Given the description of an element on the screen output the (x, y) to click on. 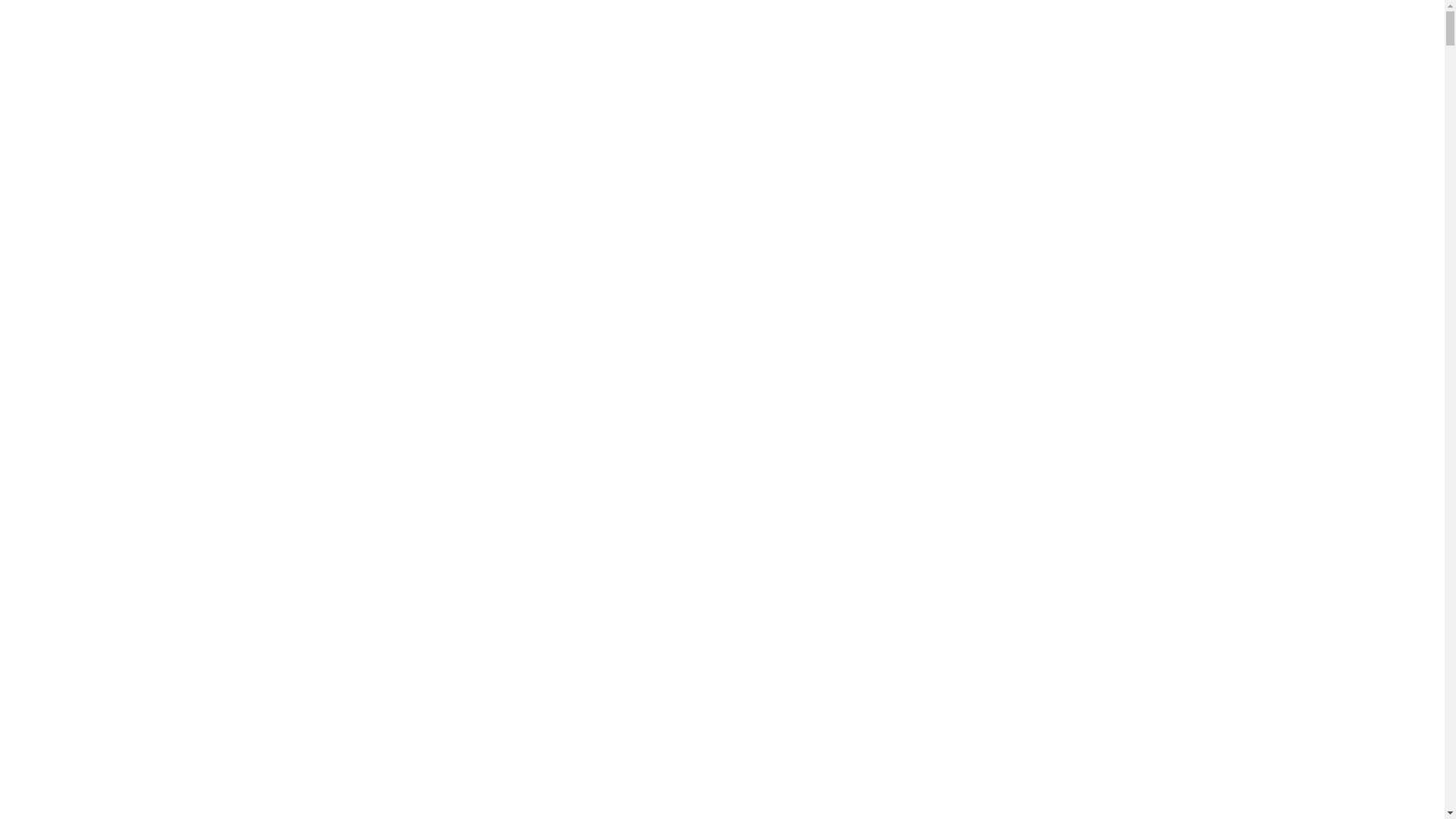
About Us Element type: text (820, 64)
Contact Us Element type: text (928, 64)
0 Element type: text (1398, 63)
Latest News Element type: text (748, 64)
Home Element type: text (504, 64)
Shop Now Element type: text (562, 64)
FAQ Element type: text (871, 64)
How Do They Work? Element type: text (652, 64)
